Given the description of an element on the screen output the (x, y) to click on. 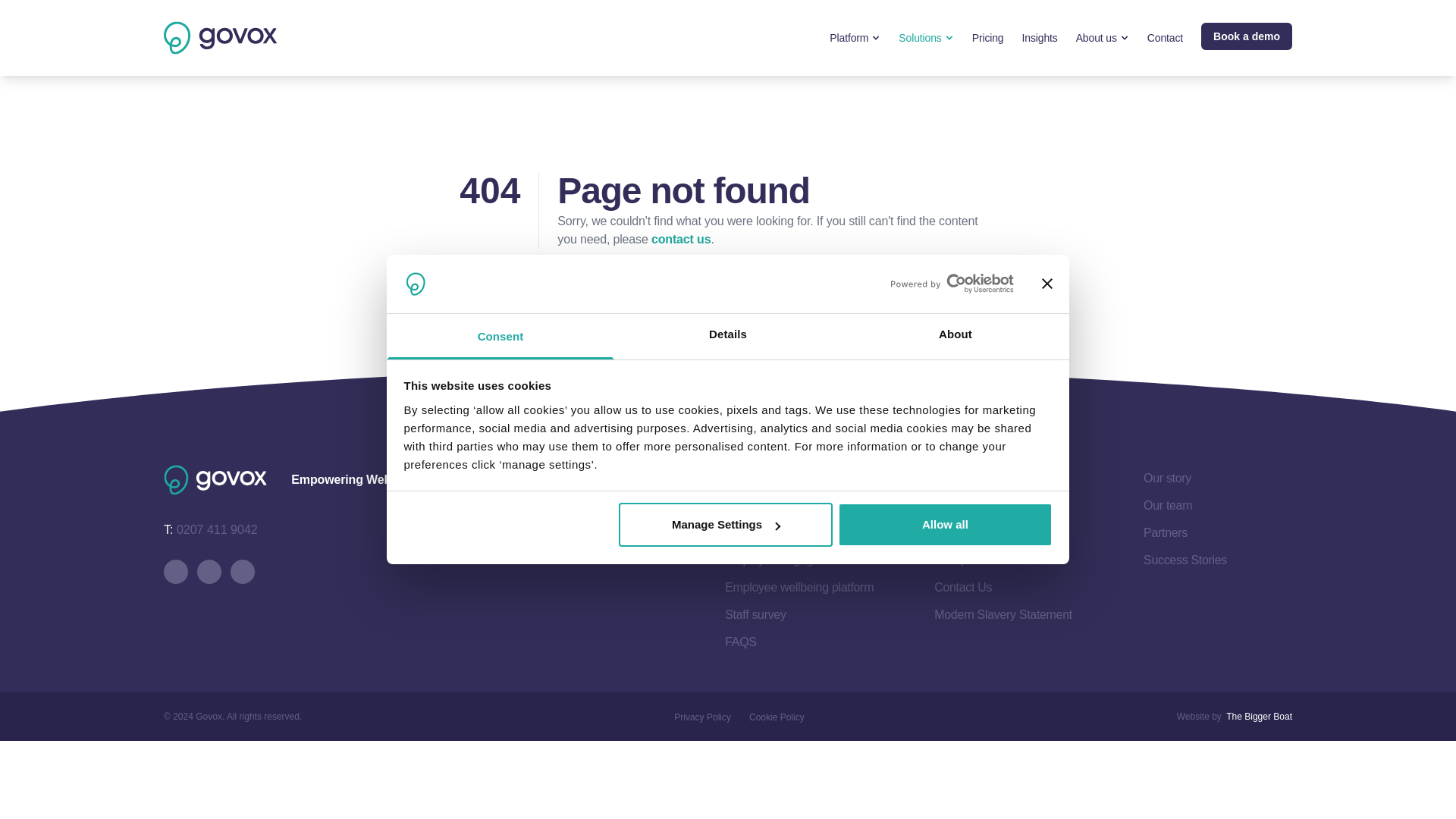
Details (727, 336)
Consent (500, 336)
About (954, 336)
